Given the description of an element on the screen output the (x, y) to click on. 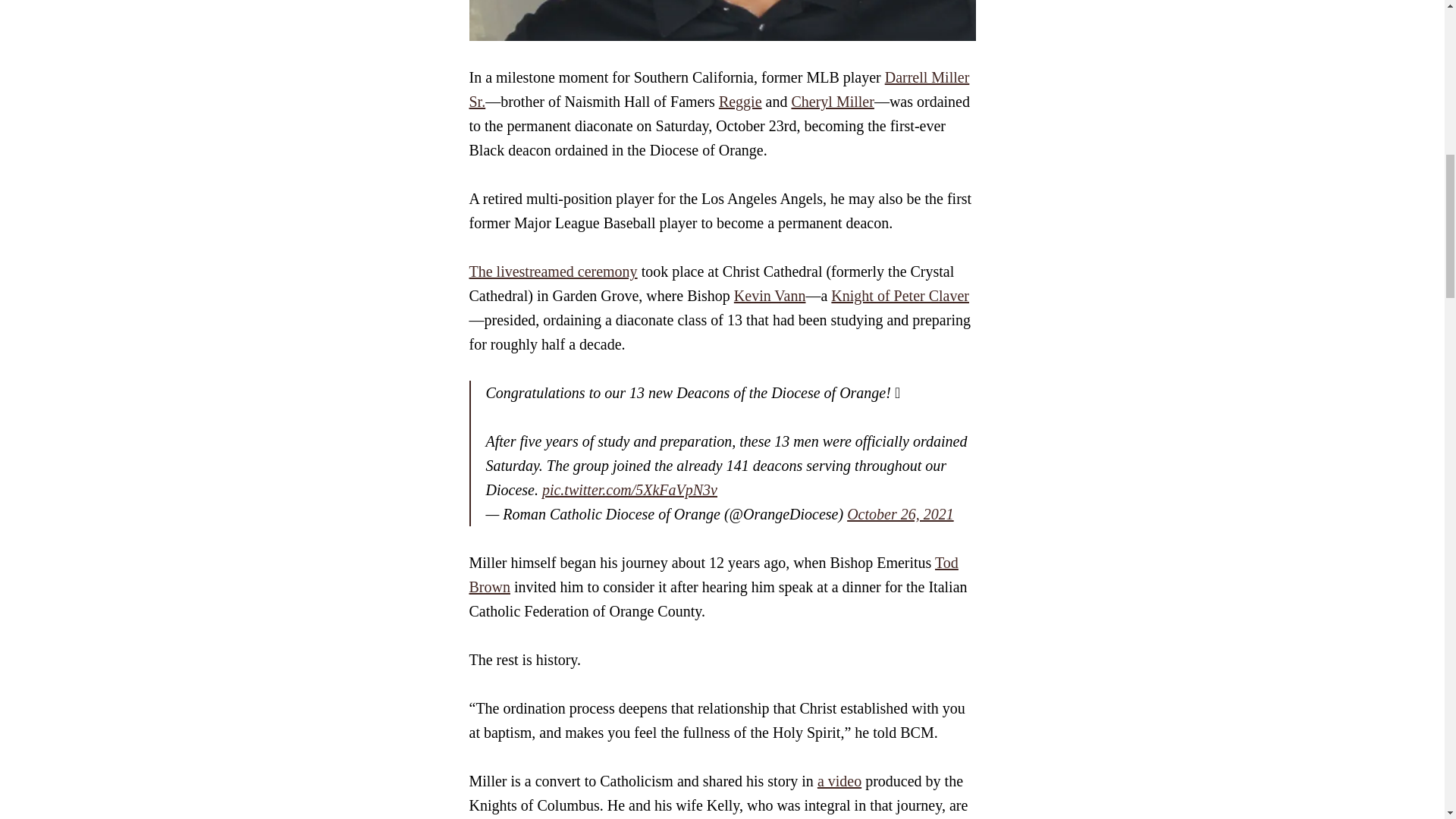
October 26, 2021 (900, 514)
a video (838, 781)
Kevin Vann (769, 295)
Tod Brown (713, 574)
Knight of Peter Claver (900, 295)
Reggie (740, 101)
Darrell Miller Sr. (718, 88)
The livestreamed ceremony (552, 271)
Cheryl Miller (831, 101)
